Given the description of an element on the screen output the (x, y) to click on. 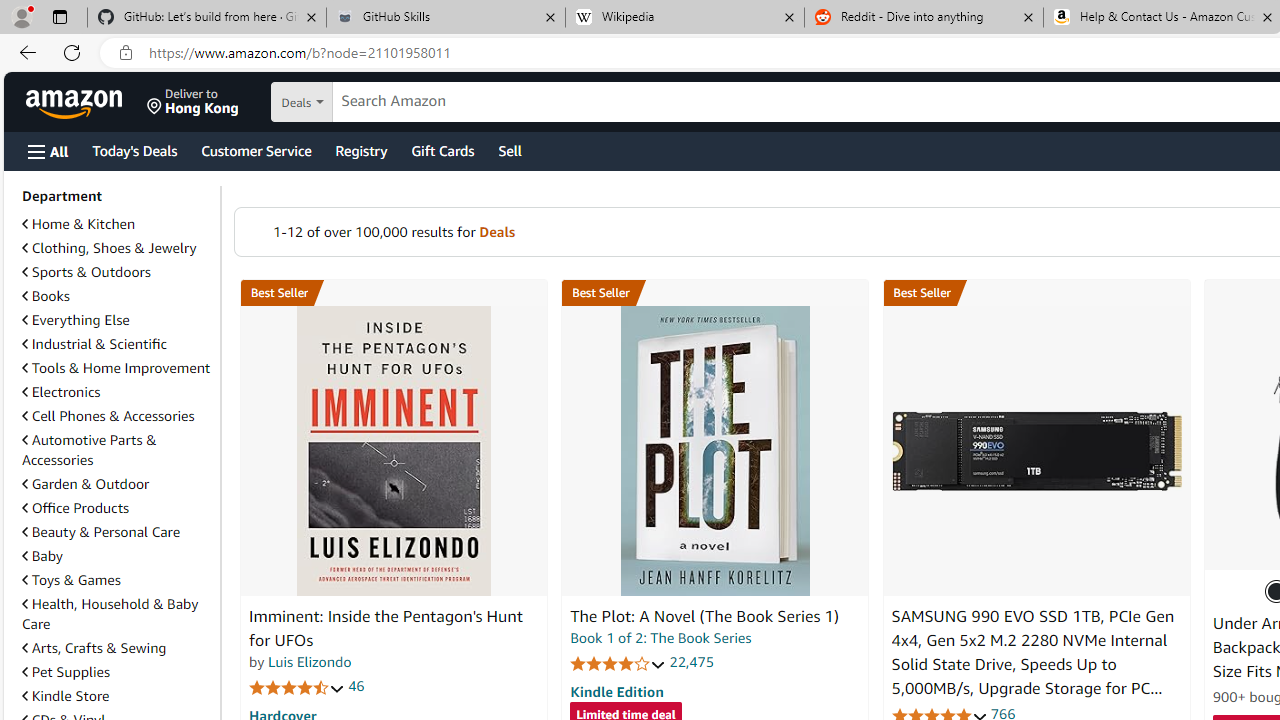
Best Seller in Internal Solid State Drives (1036, 293)
Best Seller in Heist Thrillers (715, 293)
Electronics (117, 391)
Skip to main content (86, 100)
4.2 out of 5 stars (617, 663)
The Plot: A Novel (The Book Series 1) (714, 451)
Garden & Outdoor (117, 483)
Best Seller in Unexplained Mysteries (393, 293)
22,475 (691, 662)
Clothing, Shoes & Jewelry (109, 248)
